Given the description of an element on the screen output the (x, y) to click on. 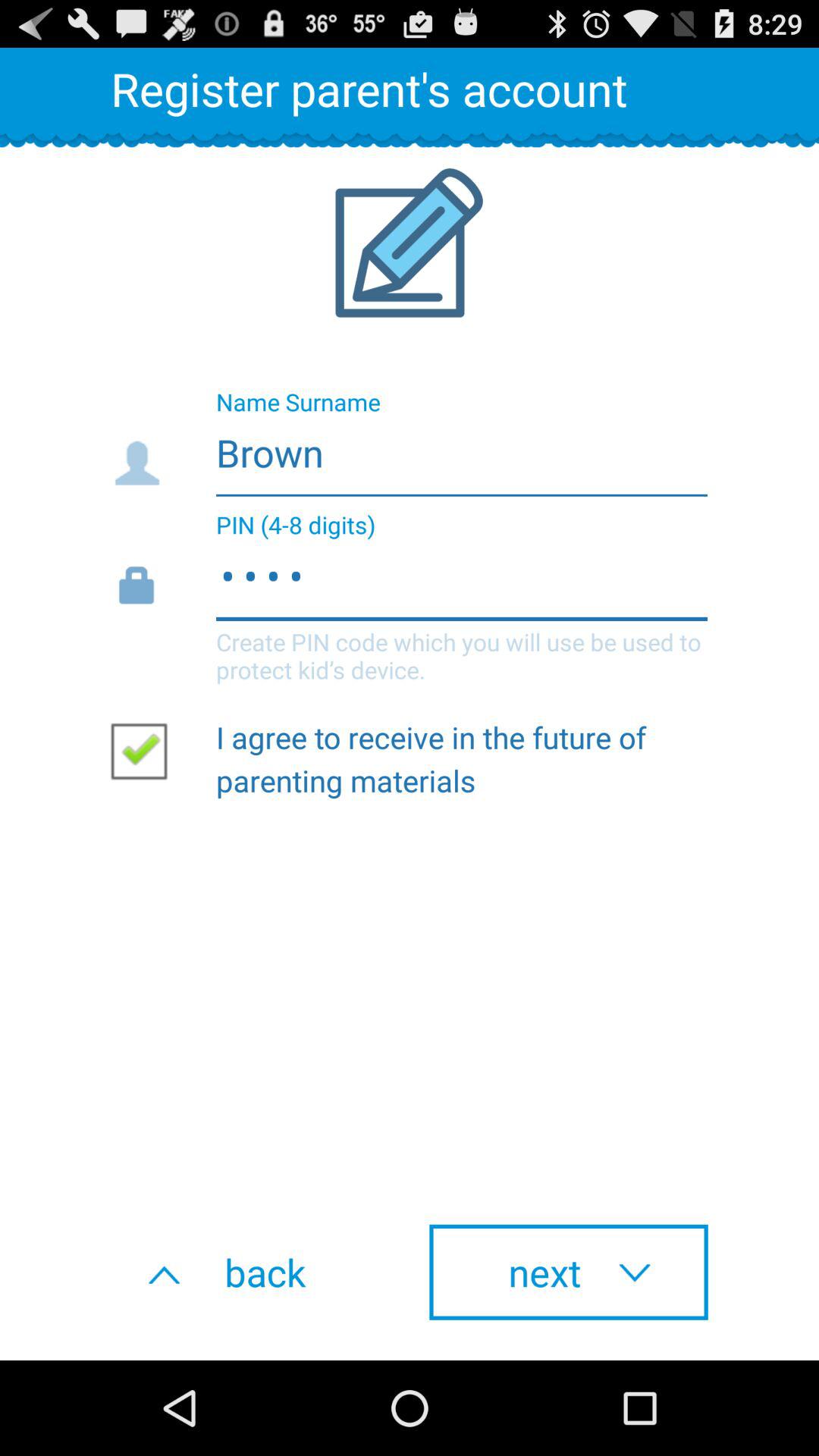
flip until back button (249, 1272)
